Given the description of an element on the screen output the (x, y) to click on. 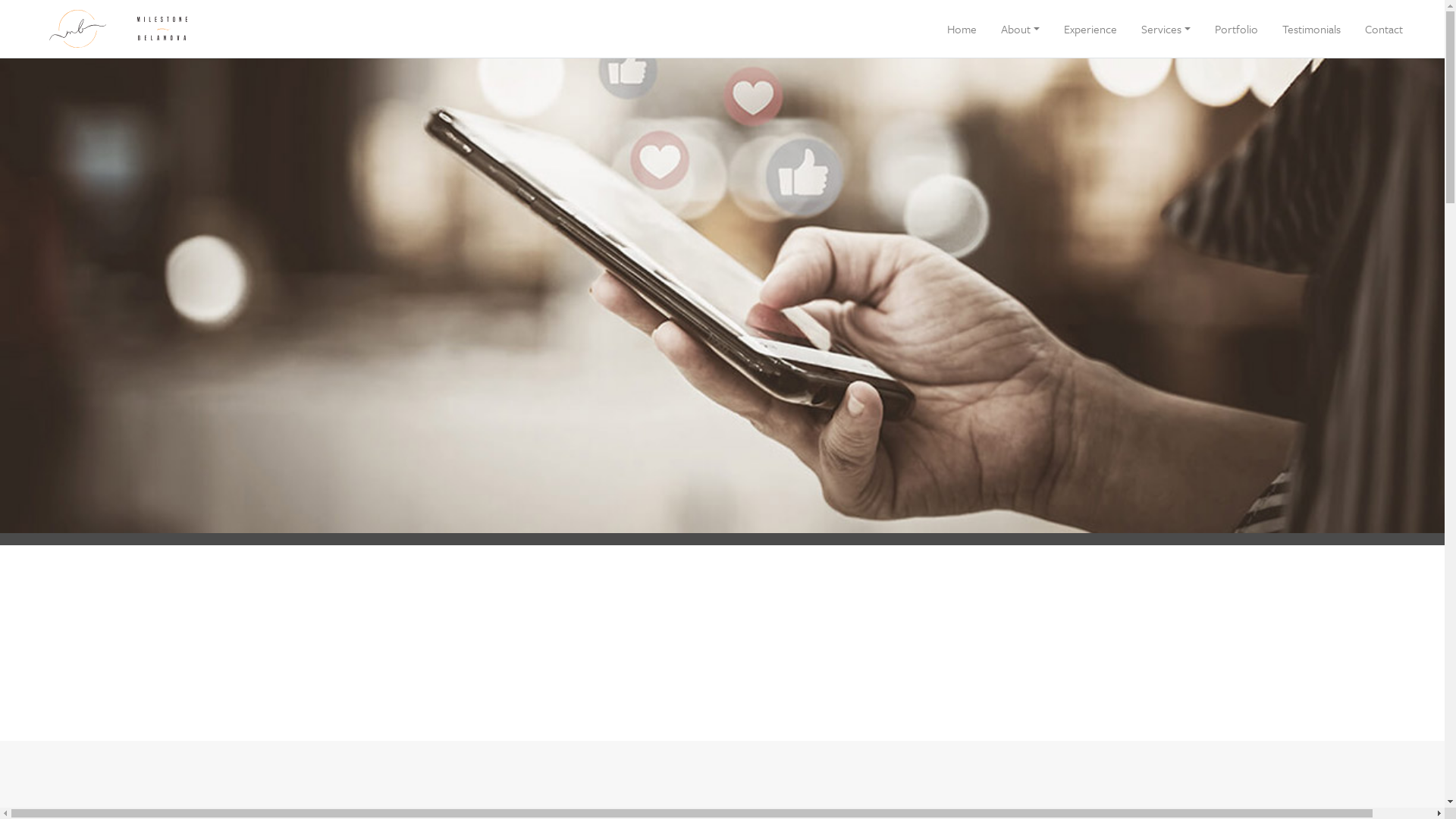
Testimonials Element type: text (1311, 28)
About Element type: text (1019, 28)
Services Element type: text (1165, 28)
Home Element type: text (961, 28)
Contact Element type: text (1383, 28)
Portfolio Element type: text (1236, 28)
Experience Element type: text (1090, 28)
